Given the description of an element on the screen output the (x, y) to click on. 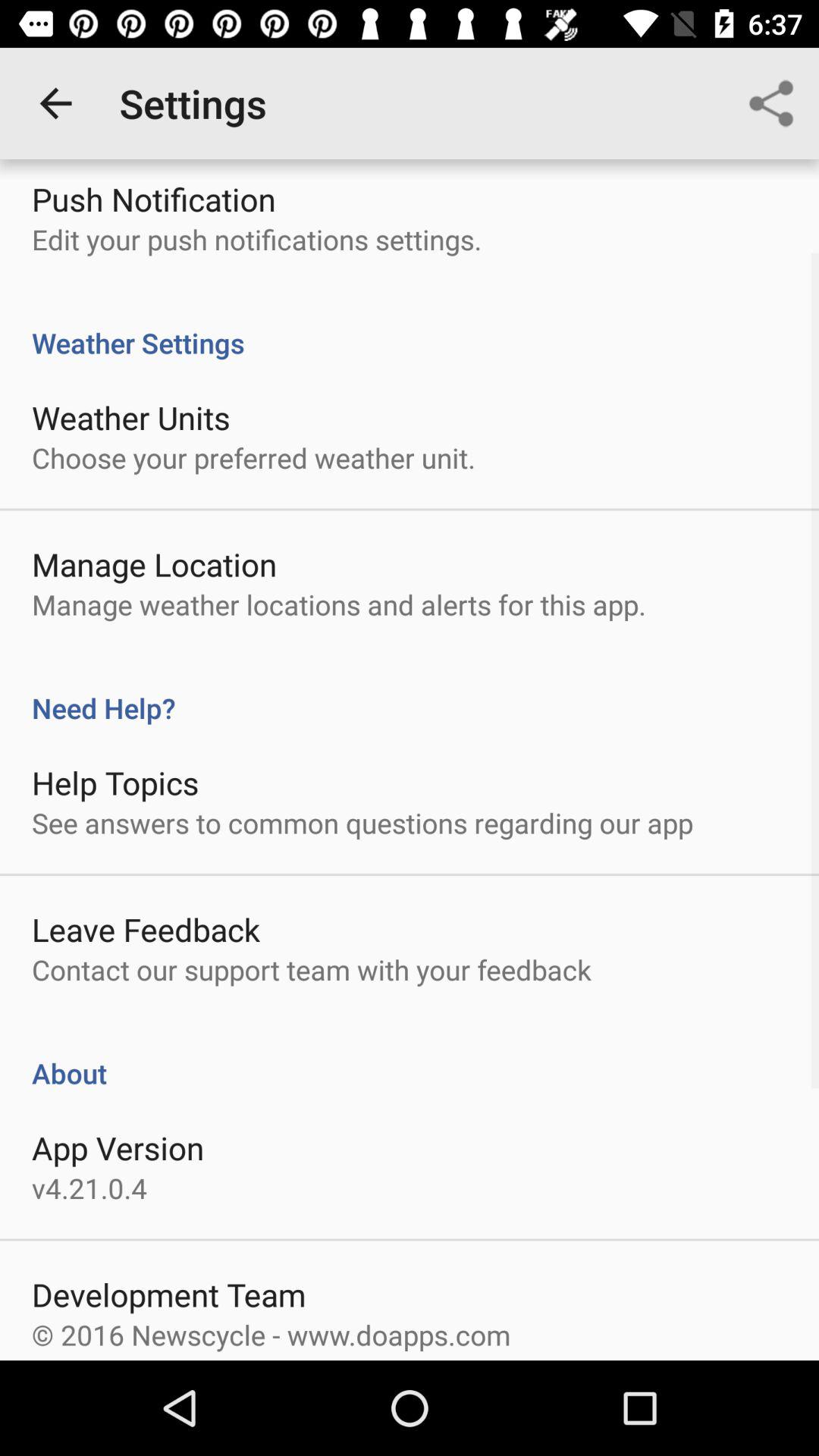
swipe until about icon (409, 1057)
